Given the description of an element on the screen output the (x, y) to click on. 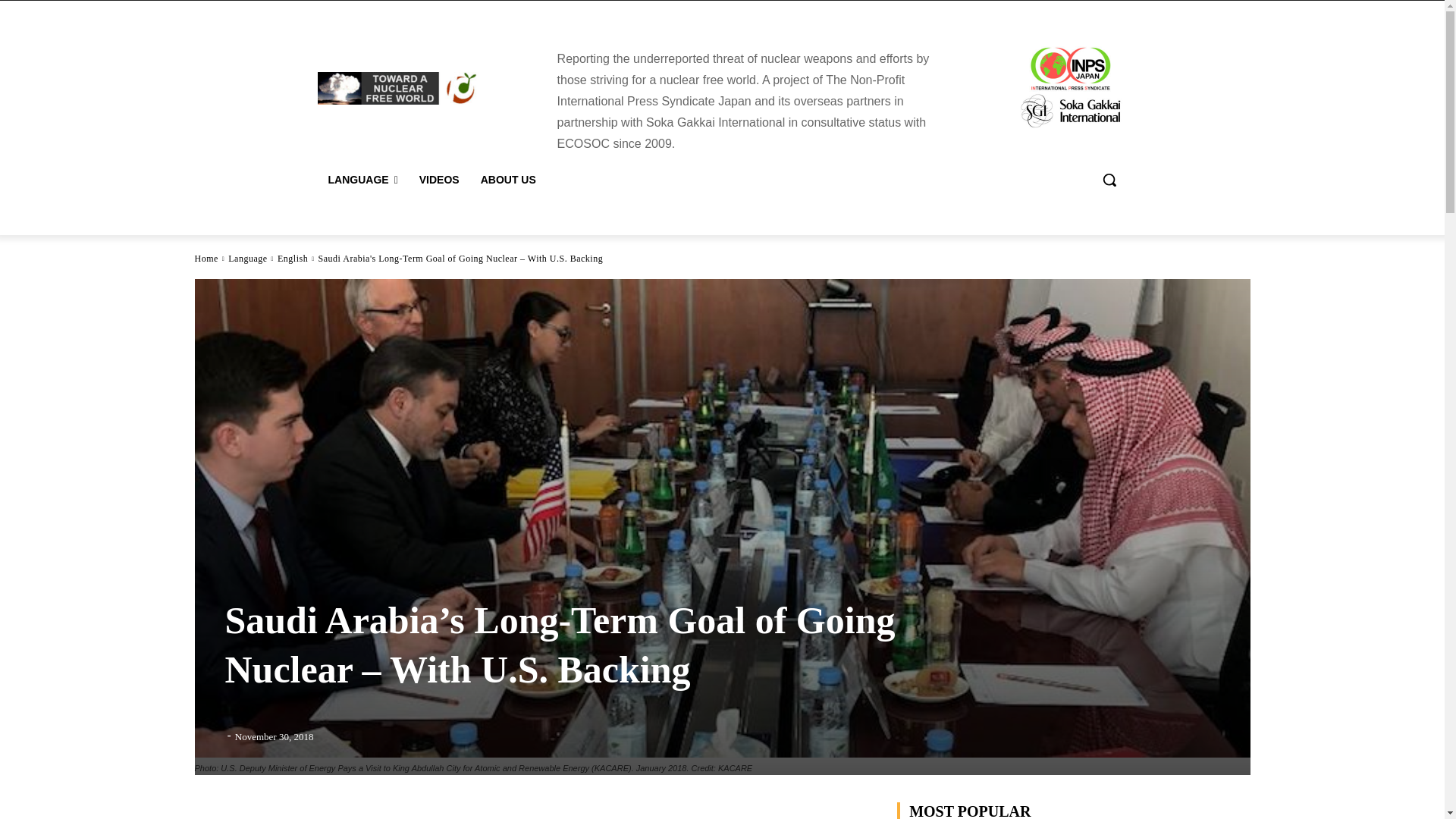
LANGUAGE (362, 179)
View all posts in Language (247, 258)
View all posts in English (292, 258)
